Given the description of an element on the screen output the (x, y) to click on. 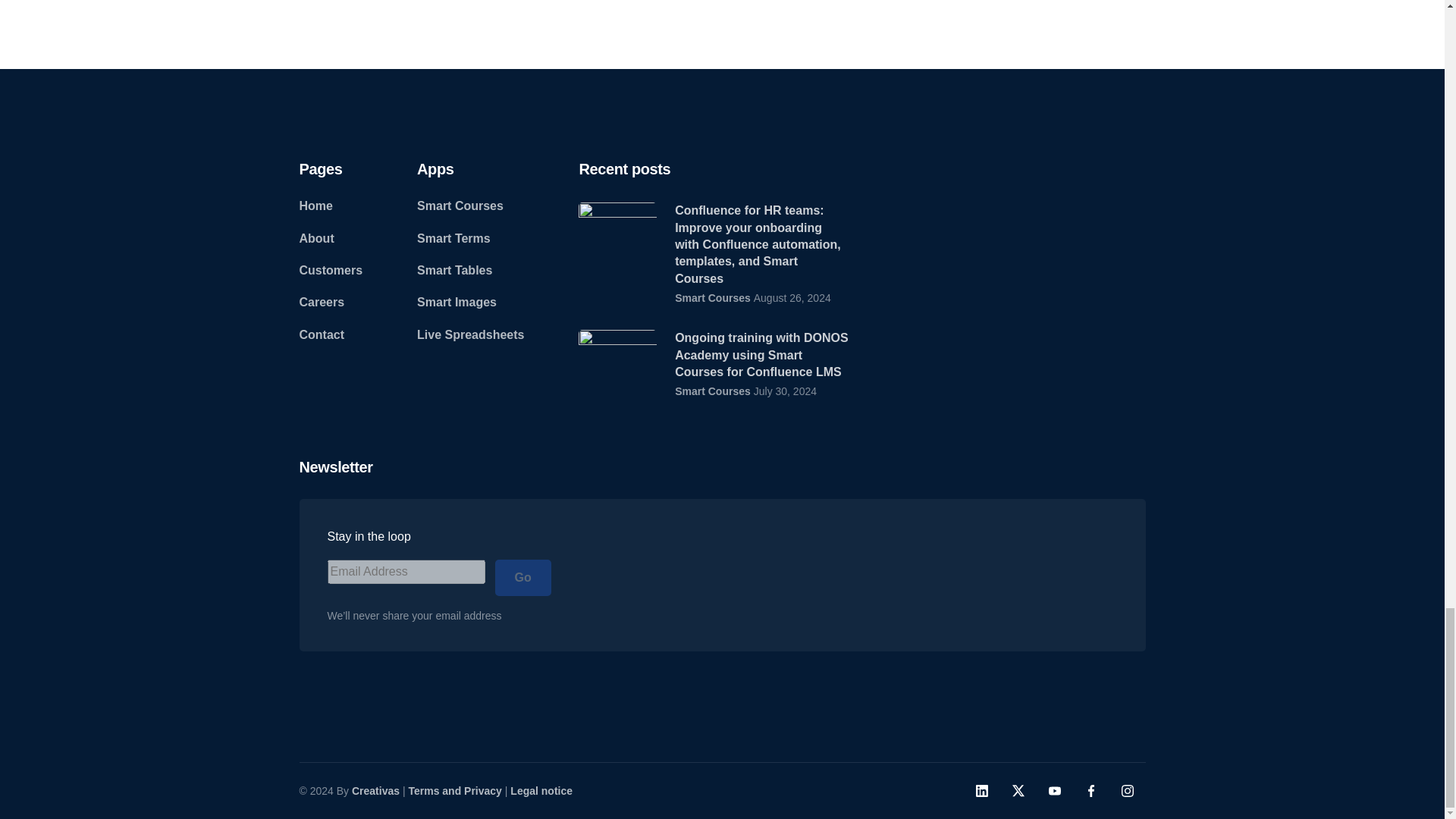
Twitter icon (1017, 790)
Go (522, 577)
YouTube icon (1053, 790)
Instagram icon (1126, 790)
LinkedIn icon (981, 790)
